Given the description of an element on the screen output the (x, y) to click on. 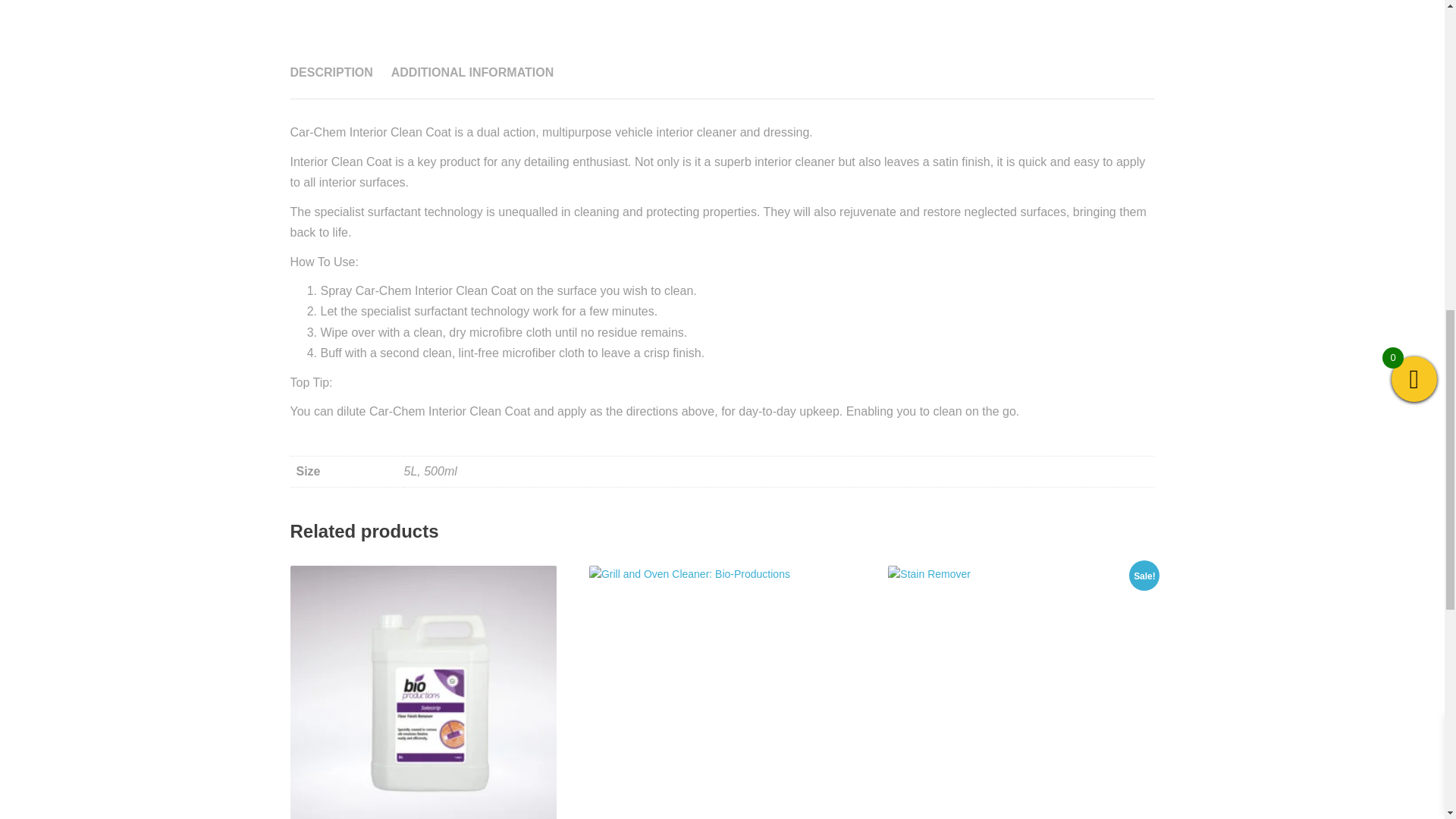
DESCRIPTION (330, 71)
Floor Polish Stripper (422, 692)
ADDITIONAL INFORMATION (472, 71)
